Given the description of an element on the screen output the (x, y) to click on. 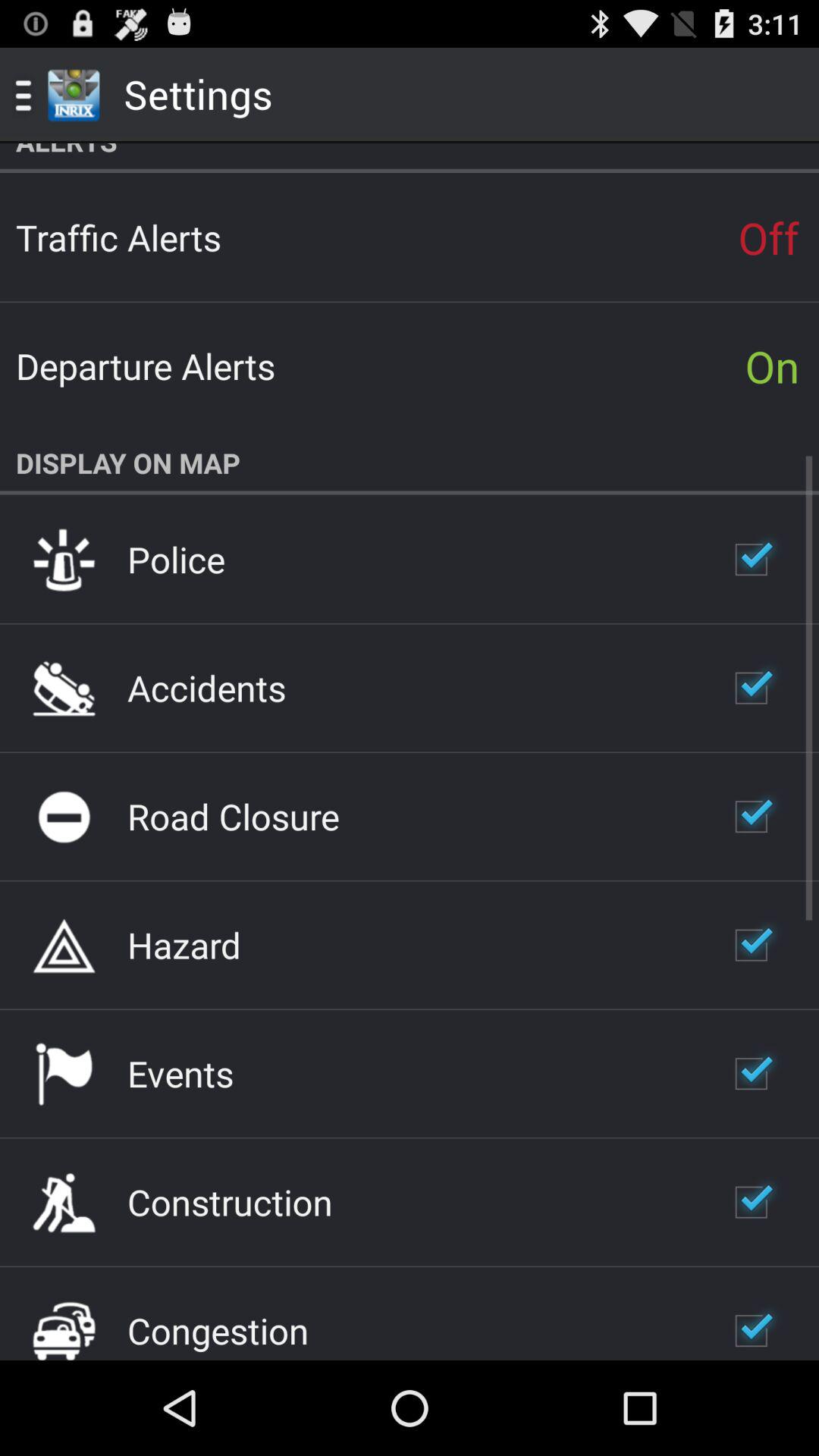
scroll until departure alerts (145, 365)
